Given the description of an element on the screen output the (x, y) to click on. 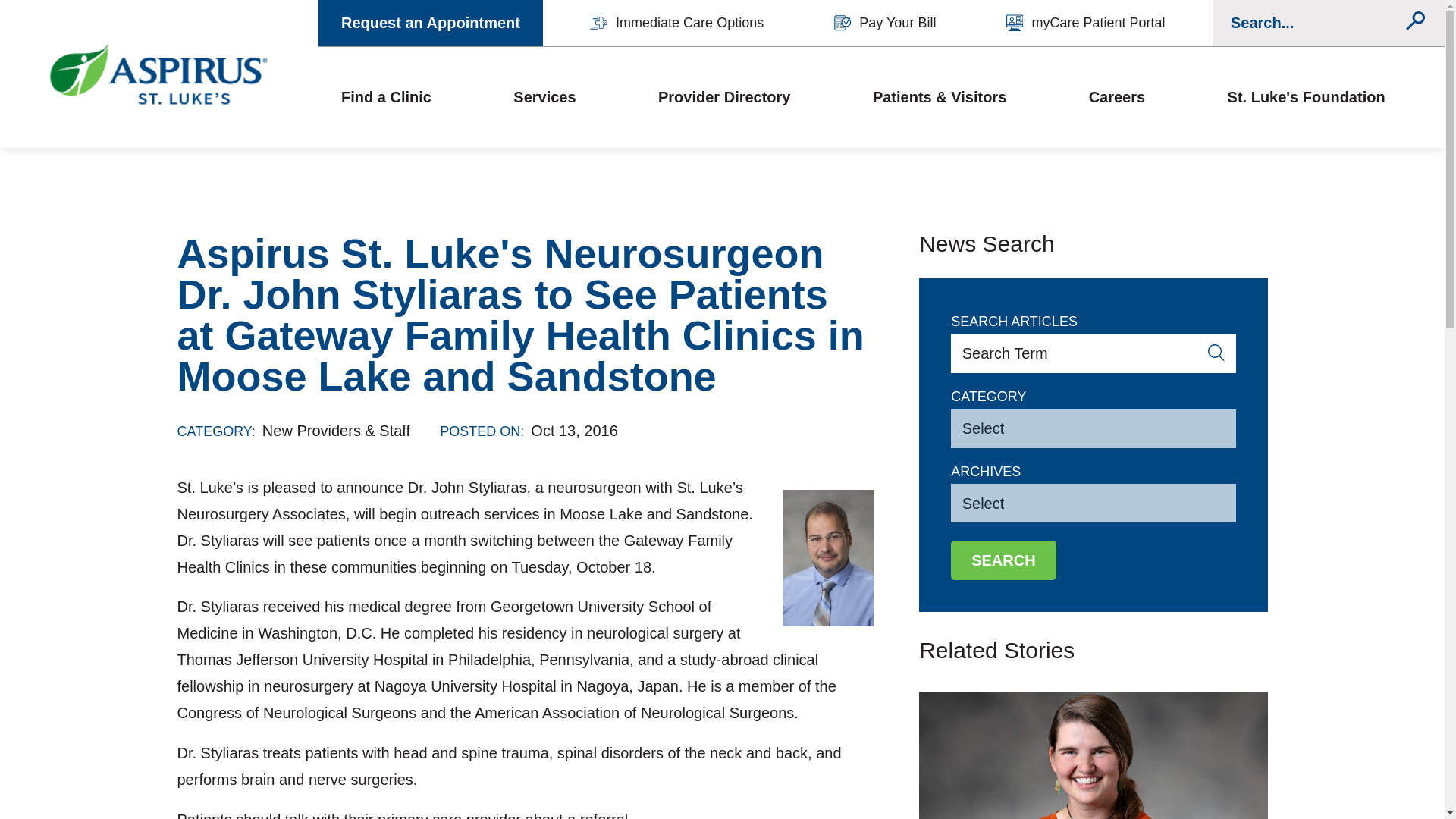
Find a Clinic (385, 97)
Pay Your Bill (884, 22)
Services (544, 97)
Provider Directory (724, 97)
Aspirus St. Luke's (158, 74)
Request an Appointment (430, 22)
Immediate Care Options (676, 22)
myCare Patient Portal (1086, 22)
